Given the description of an element on the screen output the (x, y) to click on. 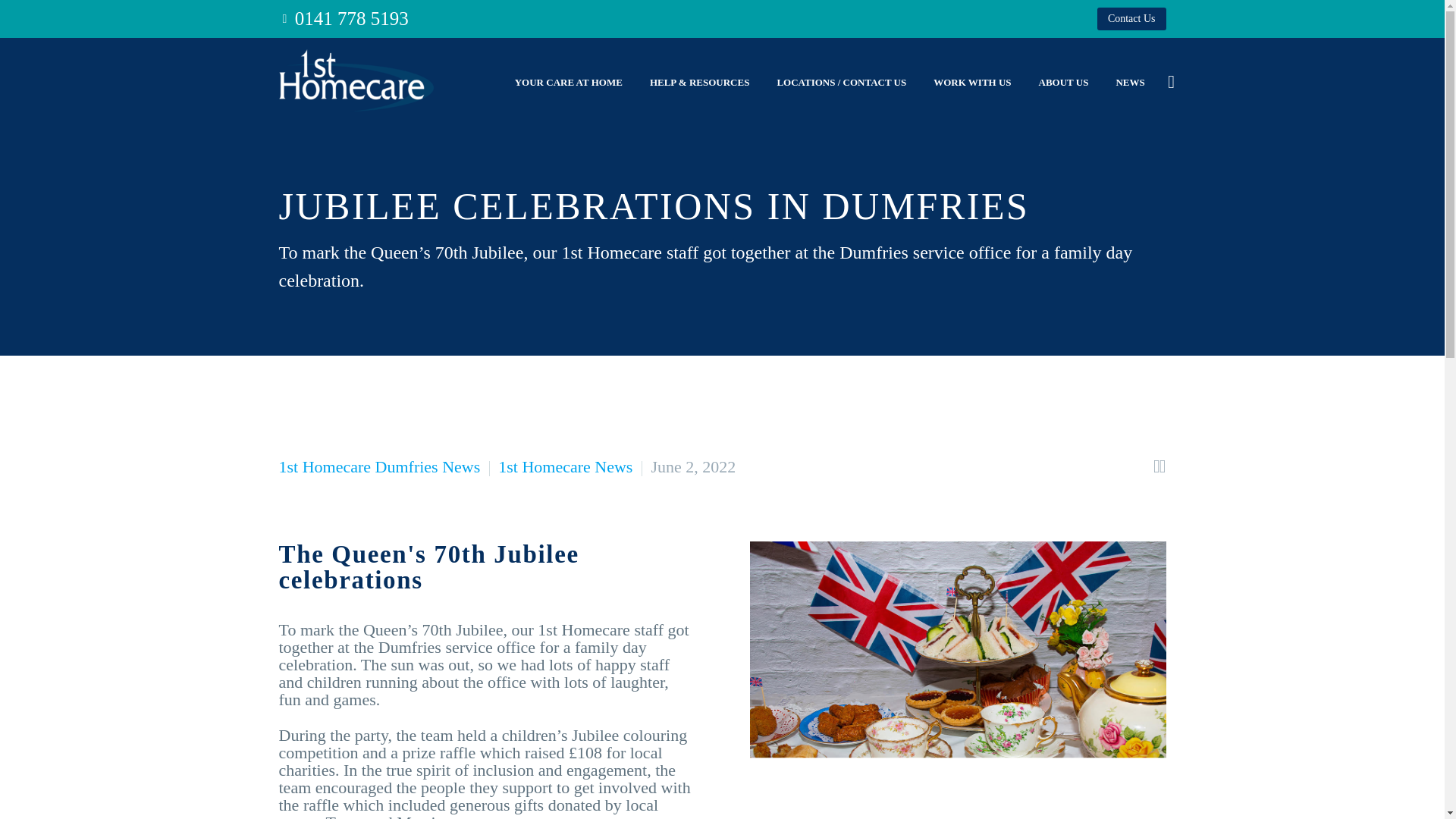
s (1323, 163)
View all posts in 1st Homecare News (564, 466)
View all posts in 1st Homecare Dumfries News (379, 466)
1st Homecare Dumfries News (379, 466)
0141 778 5193 (352, 18)
WORK WITH US (971, 81)
YOUR CARE AT HOME (568, 81)
Contact Us (1131, 18)
NEWS (1129, 81)
ABOUT US (1063, 81)
